Given the description of an element on the screen output the (x, y) to click on. 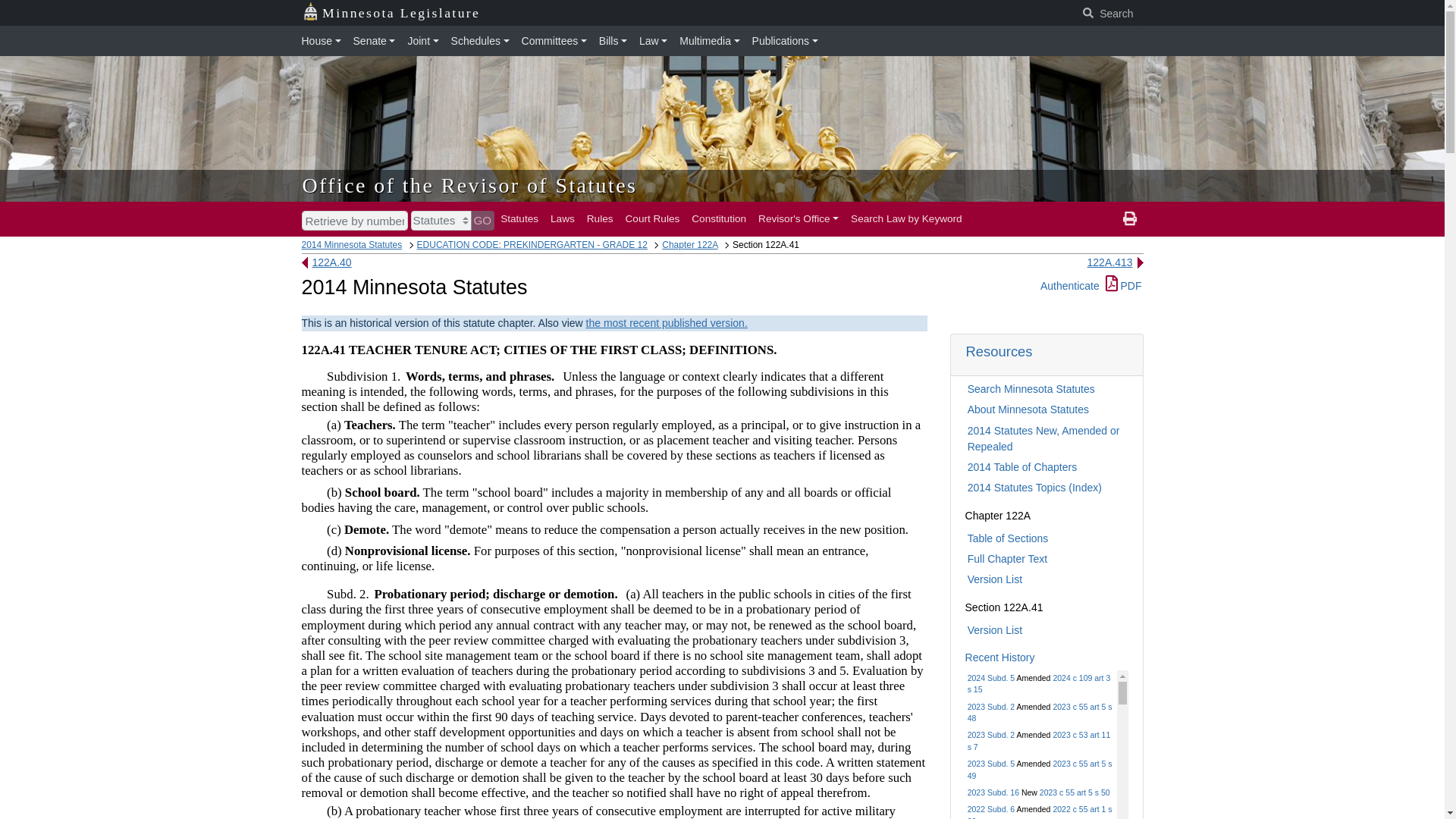
Print (1129, 219)
Minnesota Legislature (390, 12)
House (324, 40)
Senate (374, 40)
Search (1108, 13)
